Given the description of an element on the screen output the (x, y) to click on. 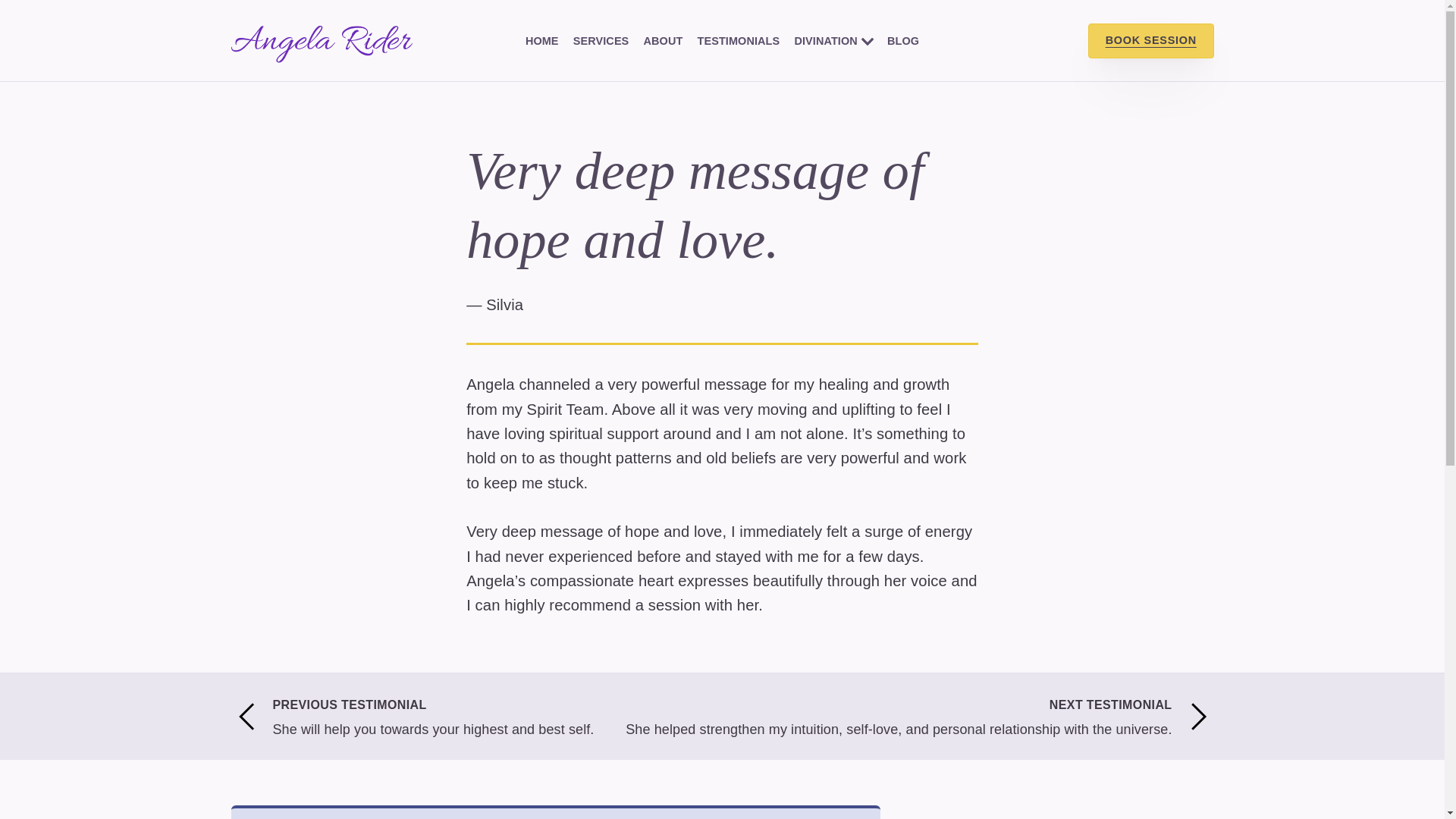
Take me to the Book Session page (1150, 40)
DIVINATION (825, 40)
Back to Home Page (321, 40)
TESTIMONIALS (738, 40)
